Given the description of an element on the screen output the (x, y) to click on. 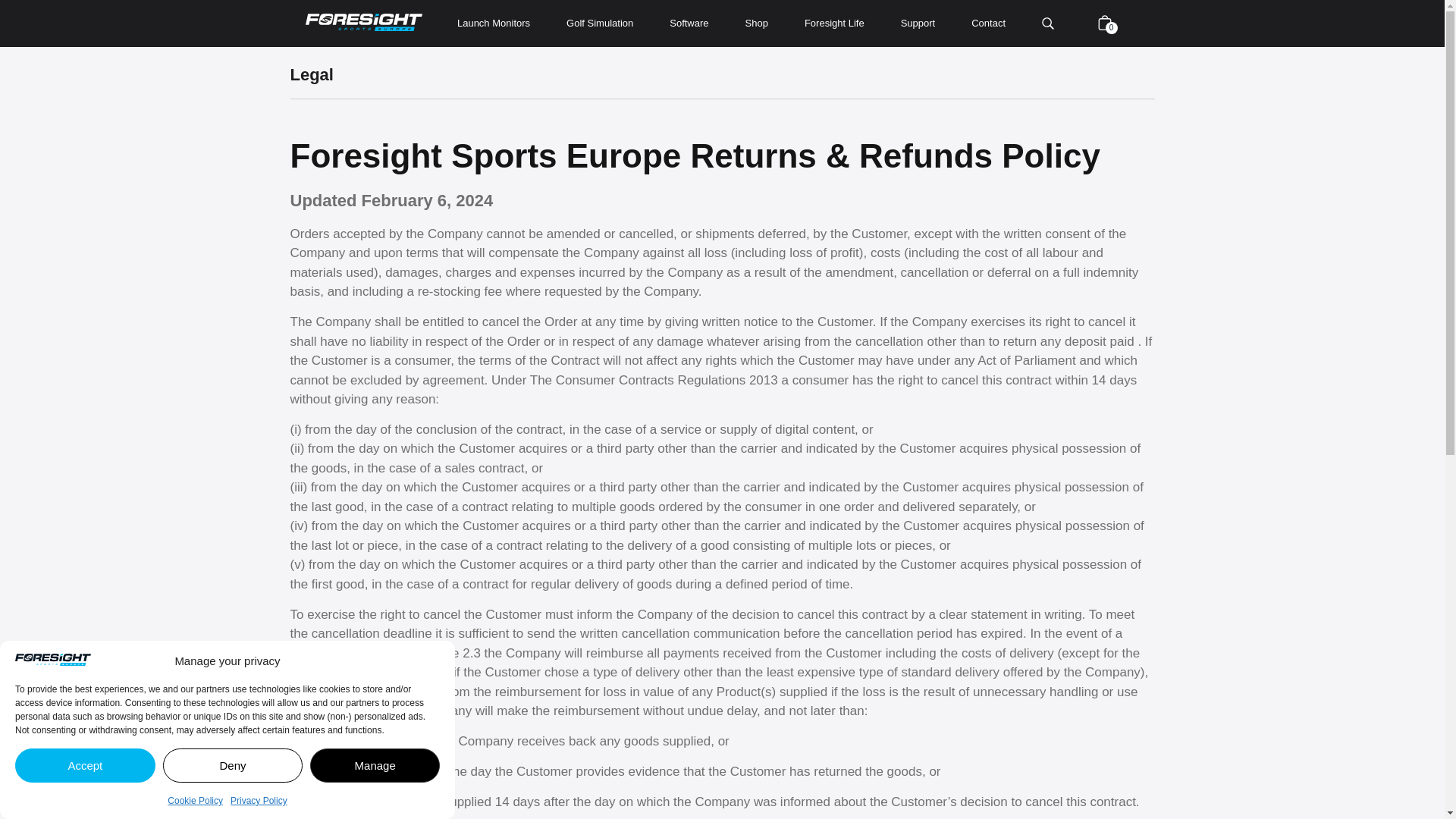
Manage (374, 765)
View your shopping cart (1104, 22)
Cookie Policy (194, 800)
Privacy Policy (258, 800)
Accept (84, 765)
Deny (232, 765)
